Given the description of an element on the screen output the (x, y) to click on. 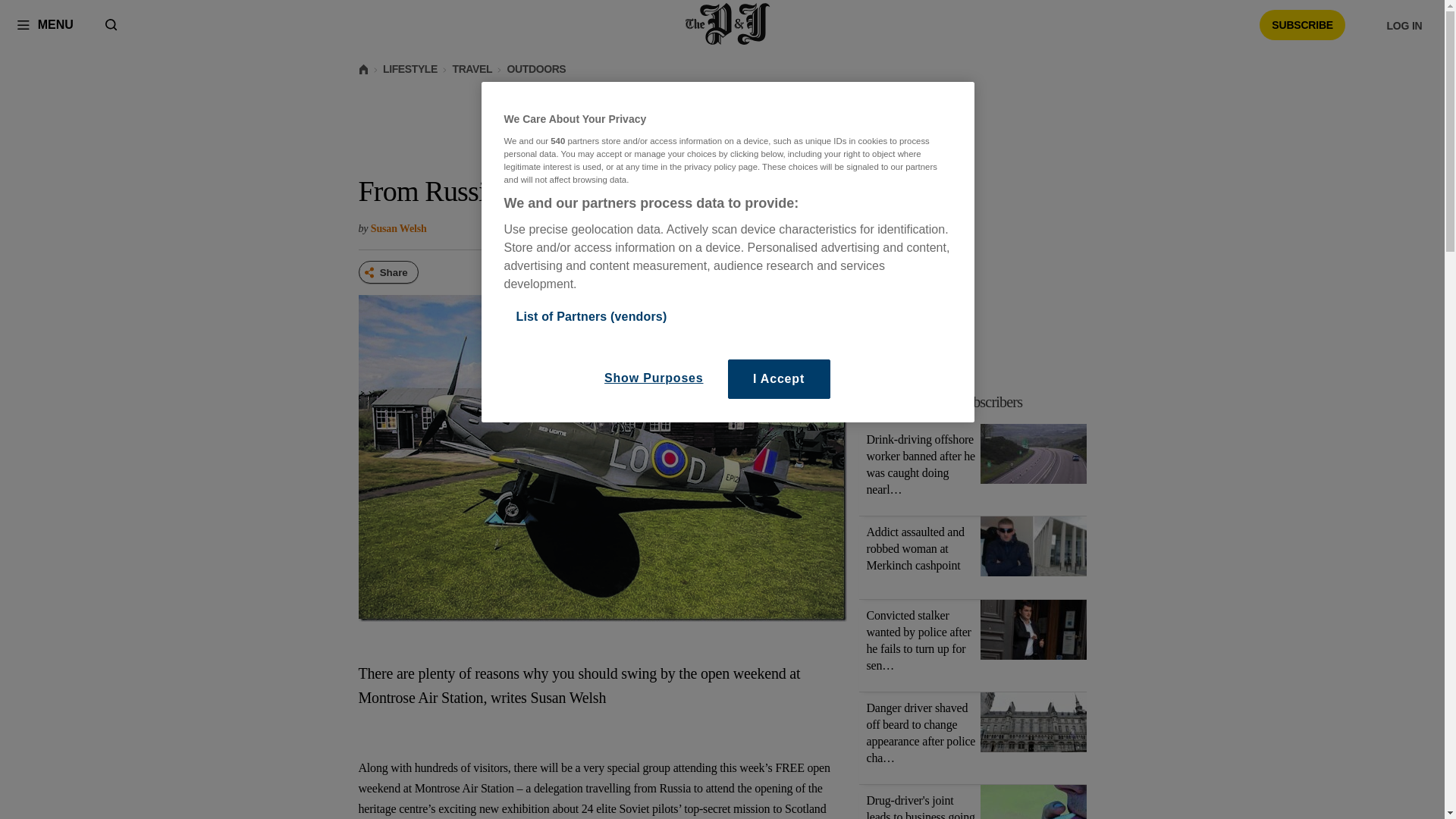
MENU (44, 24)
Press and Journal (727, 24)
Exclusive to our subscribers (944, 402)
Exclusive to our subscribers (981, 402)
